Given the description of an element on the screen output the (x, y) to click on. 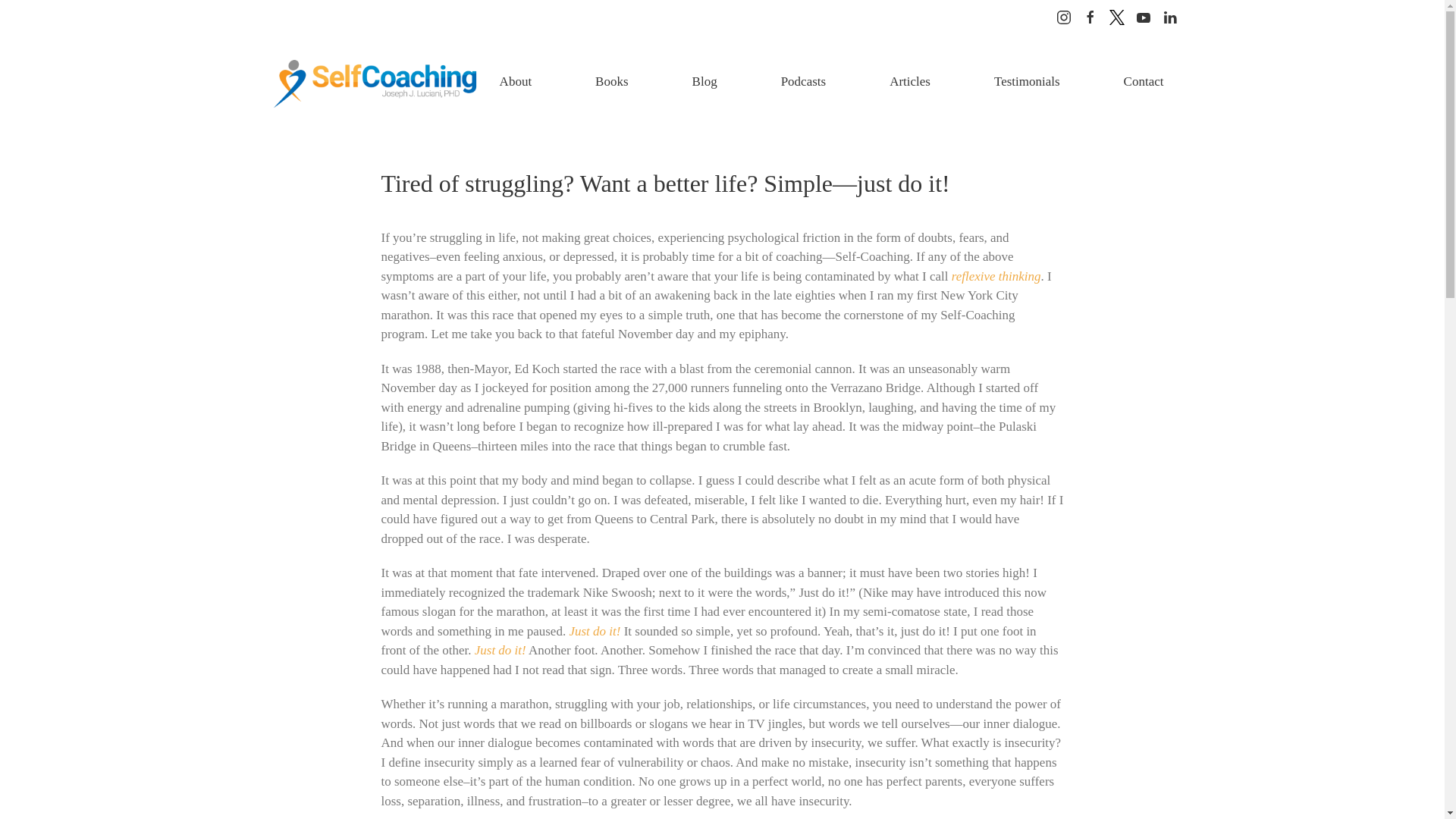
Testimonials (1026, 81)
Articles (909, 81)
Podcasts (803, 81)
Contact (1143, 81)
